Given the description of an element on the screen output the (x, y) to click on. 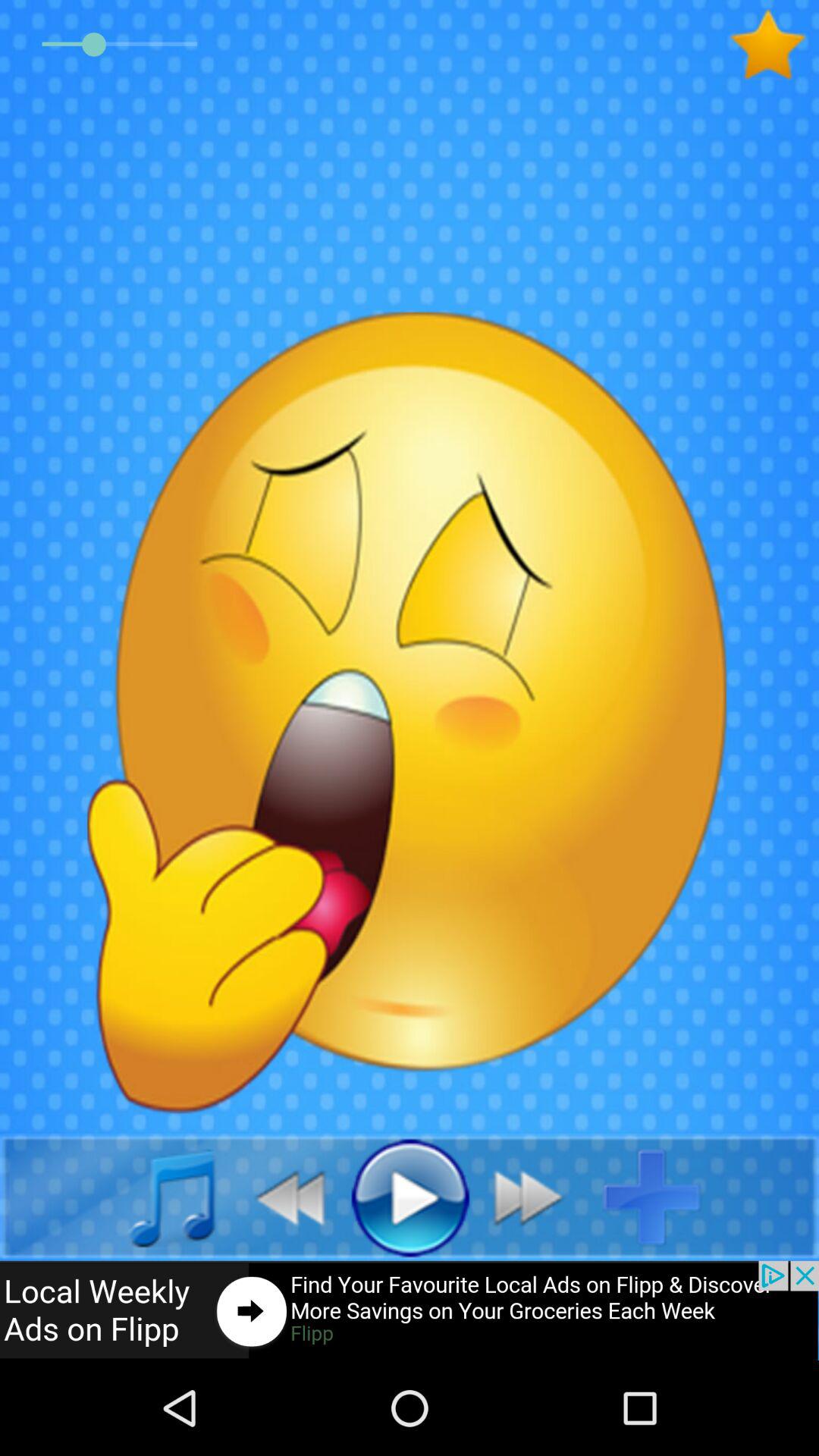
go back (281, 1196)
